Given the description of an element on the screen output the (x, y) to click on. 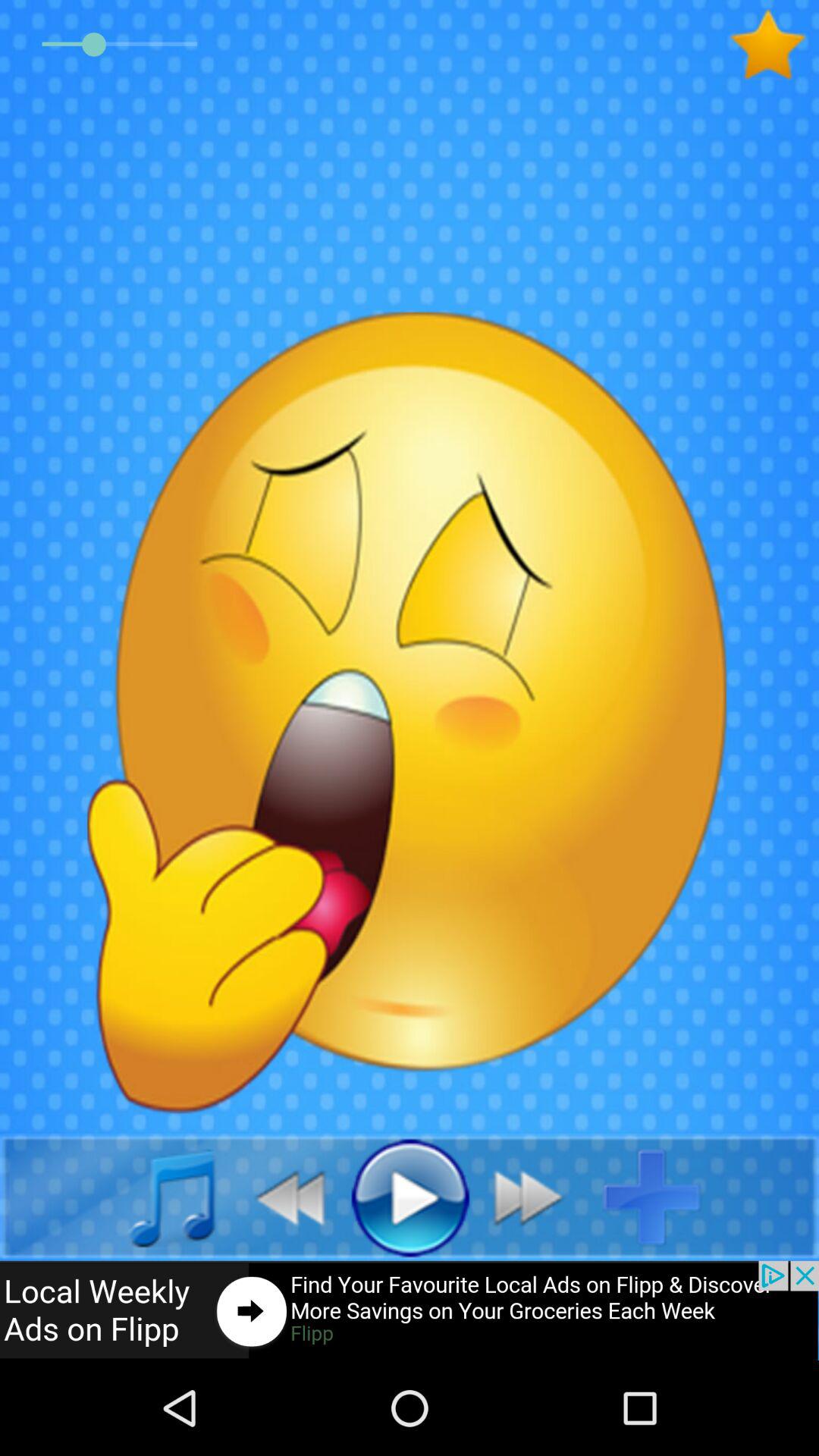
go back (281, 1196)
